Given the description of an element on the screen output the (x, y) to click on. 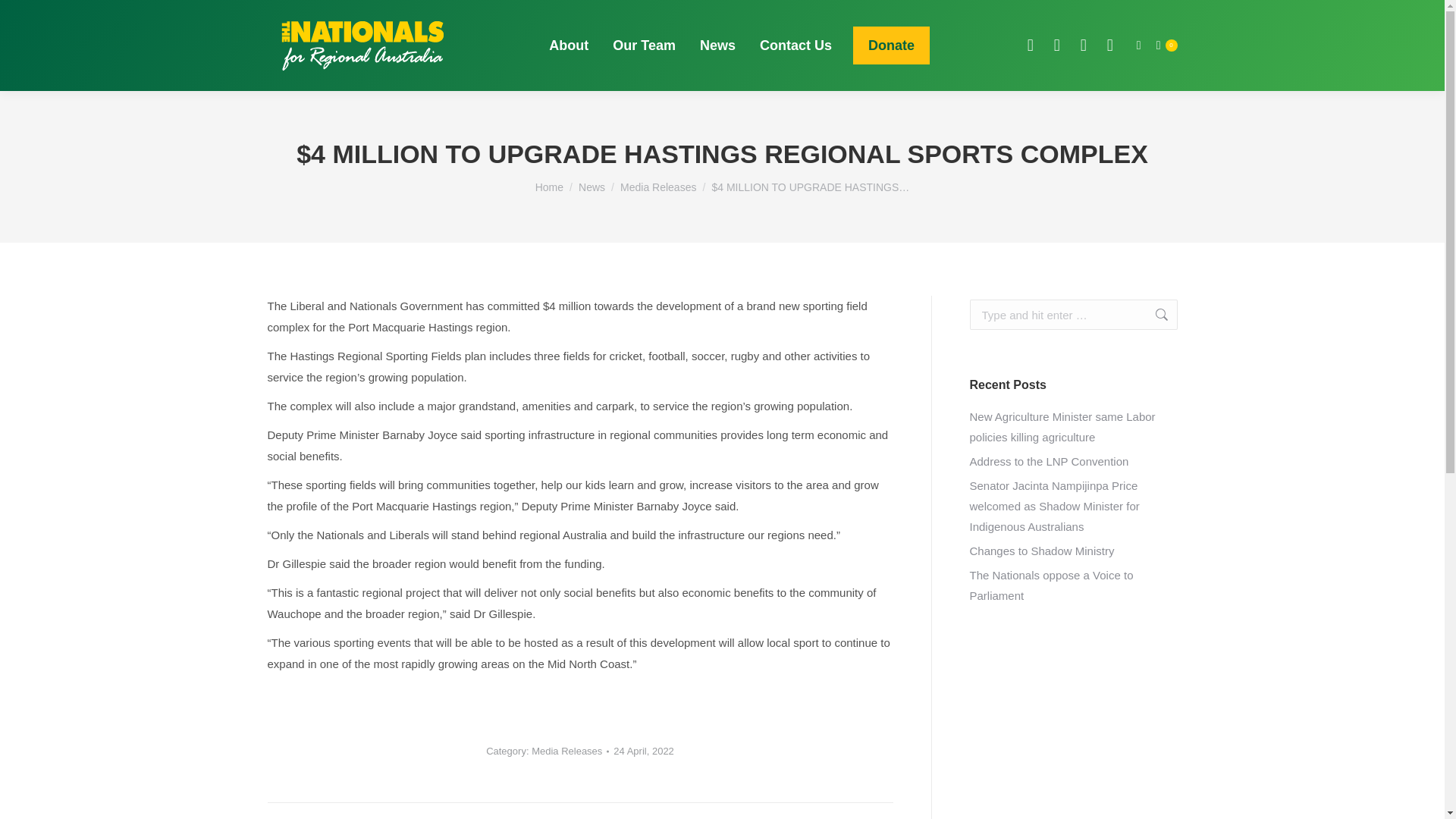
Go! (1153, 314)
Donate (891, 45)
YouTube page opens in new window (1082, 44)
X page opens in new window (1056, 44)
Go! (1153, 314)
Facebook page opens in new window (1030, 44)
Contact Us (795, 44)
Instagram page opens in new window (1110, 44)
 0 (1166, 45)
Our Team (644, 44)
